Given the description of an element on the screen output the (x, y) to click on. 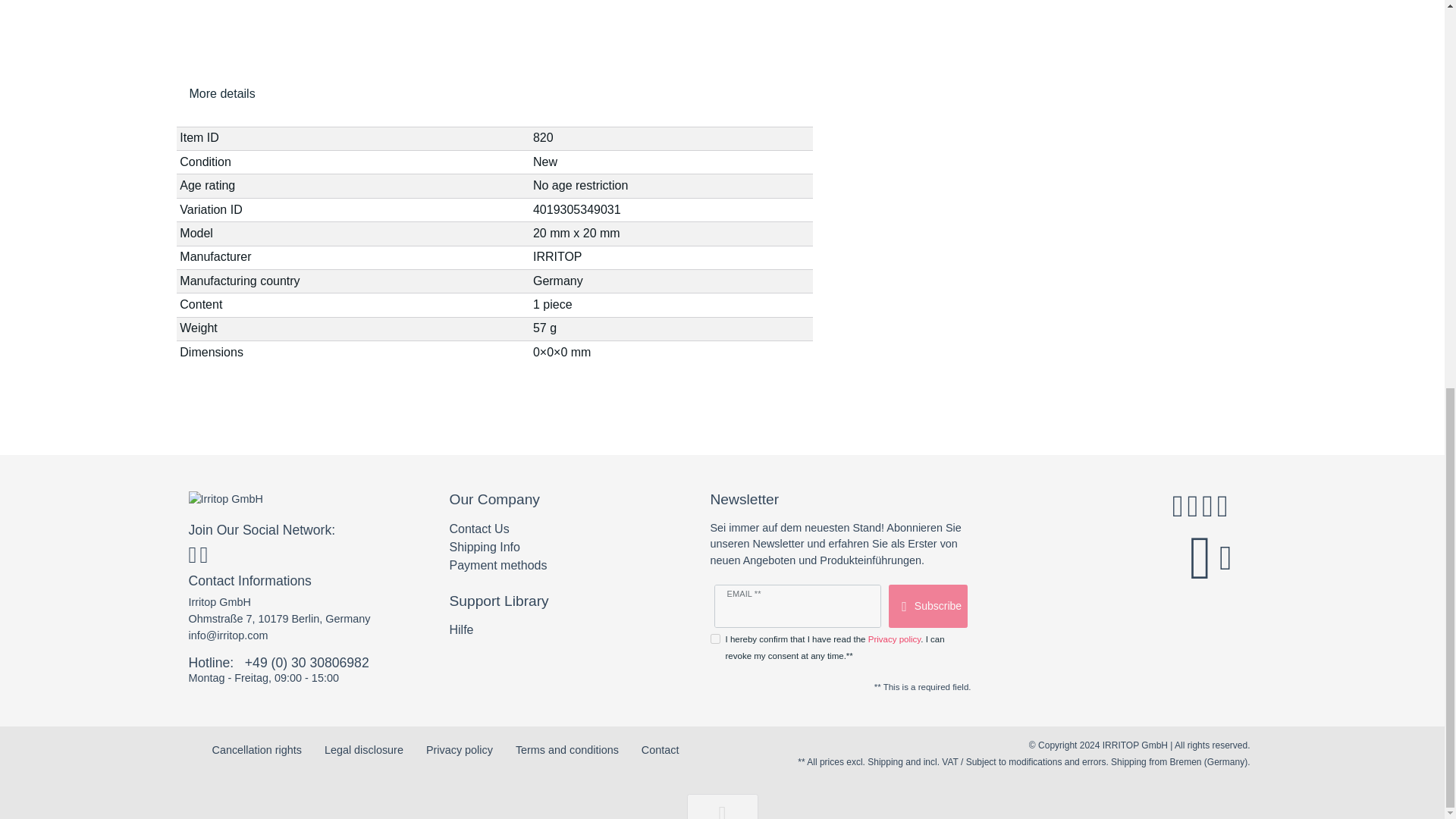
on (714, 638)
